Given the description of an element on the screen output the (x, y) to click on. 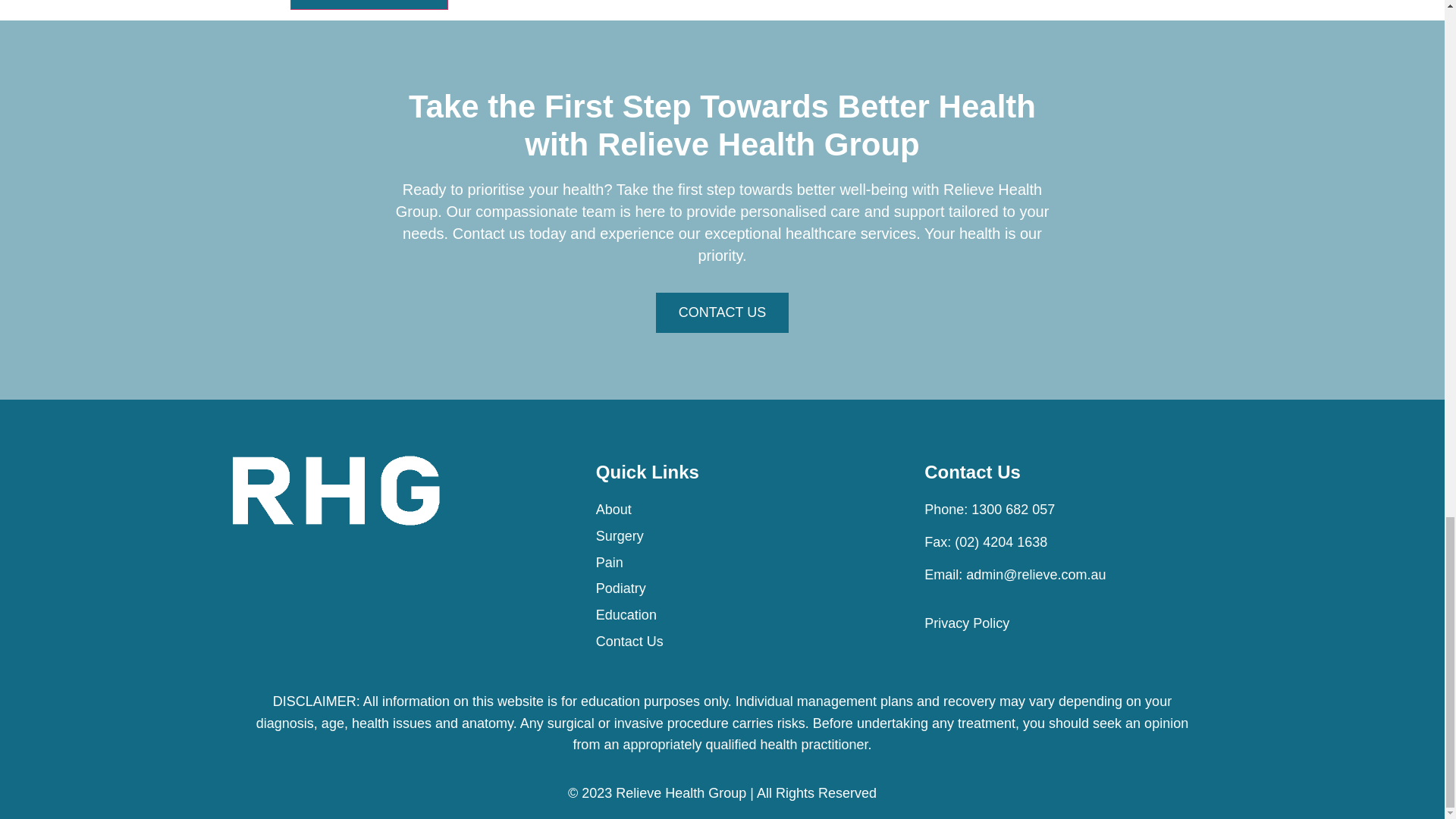
Education (740, 615)
Surgery (740, 536)
Pain (740, 563)
Podiatry (740, 588)
Post Comment (368, 4)
CONTACT US (722, 312)
About (740, 509)
Privacy Policy (1069, 623)
Post Comment (368, 4)
Contact Us (740, 641)
